Given the description of an element on the screen output the (x, y) to click on. 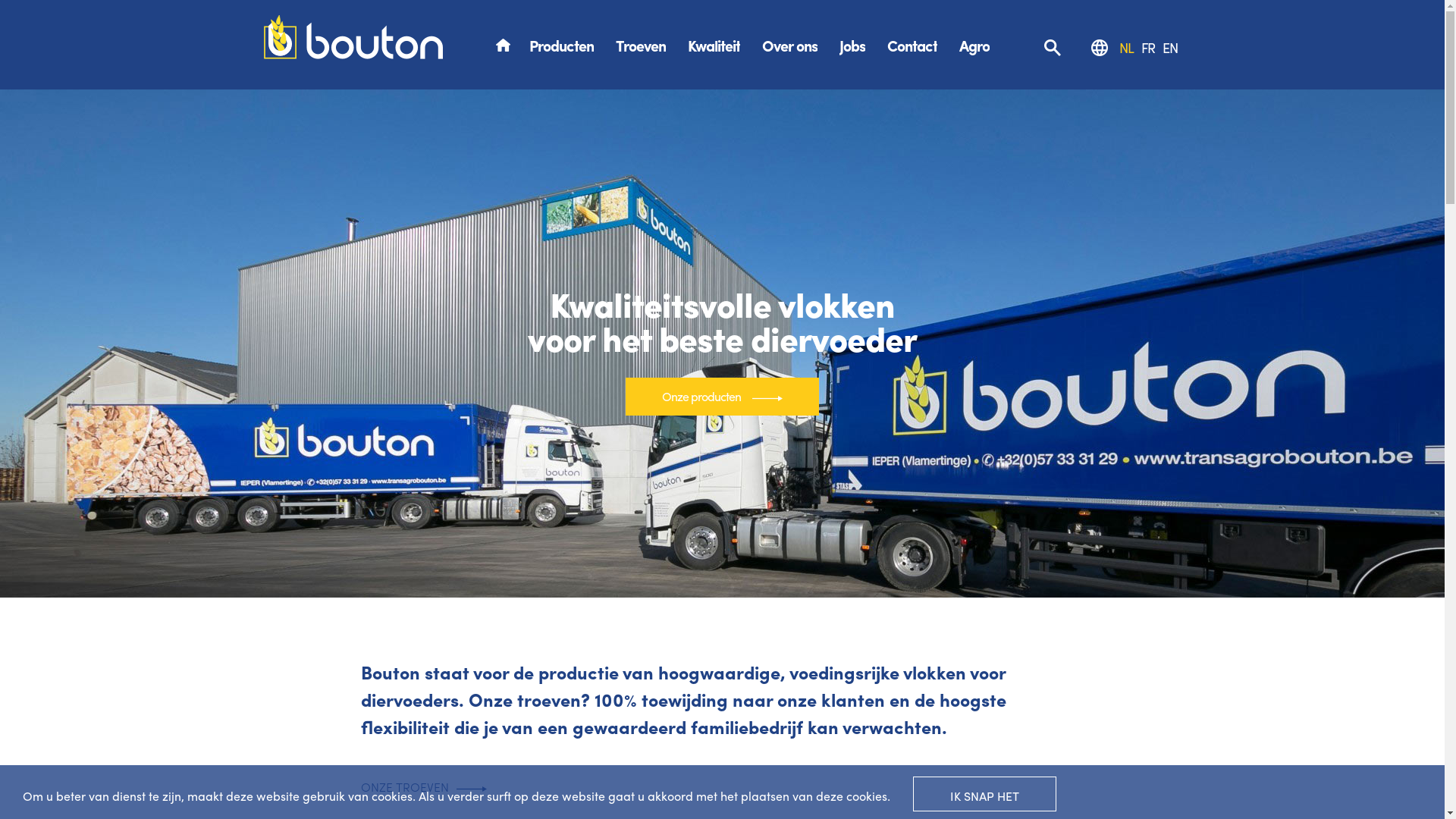
IK SNAP HET Element type: text (984, 793)
Contact Element type: text (912, 45)
EN Element type: text (1168, 46)
ONZE TROEVEN Element type: text (423, 787)
Jobs Element type: text (851, 45)
Onze producten Element type: text (722, 396)
Agro Element type: text (973, 45)
NL Element type: text (1126, 46)
Kwaliteit Element type: text (713, 45)
Over ons Element type: text (788, 45)
Troeven Element type: text (640, 45)
Producten Element type: text (561, 45)
FR Element type: text (1147, 46)
